Given the description of an element on the screen output the (x, y) to click on. 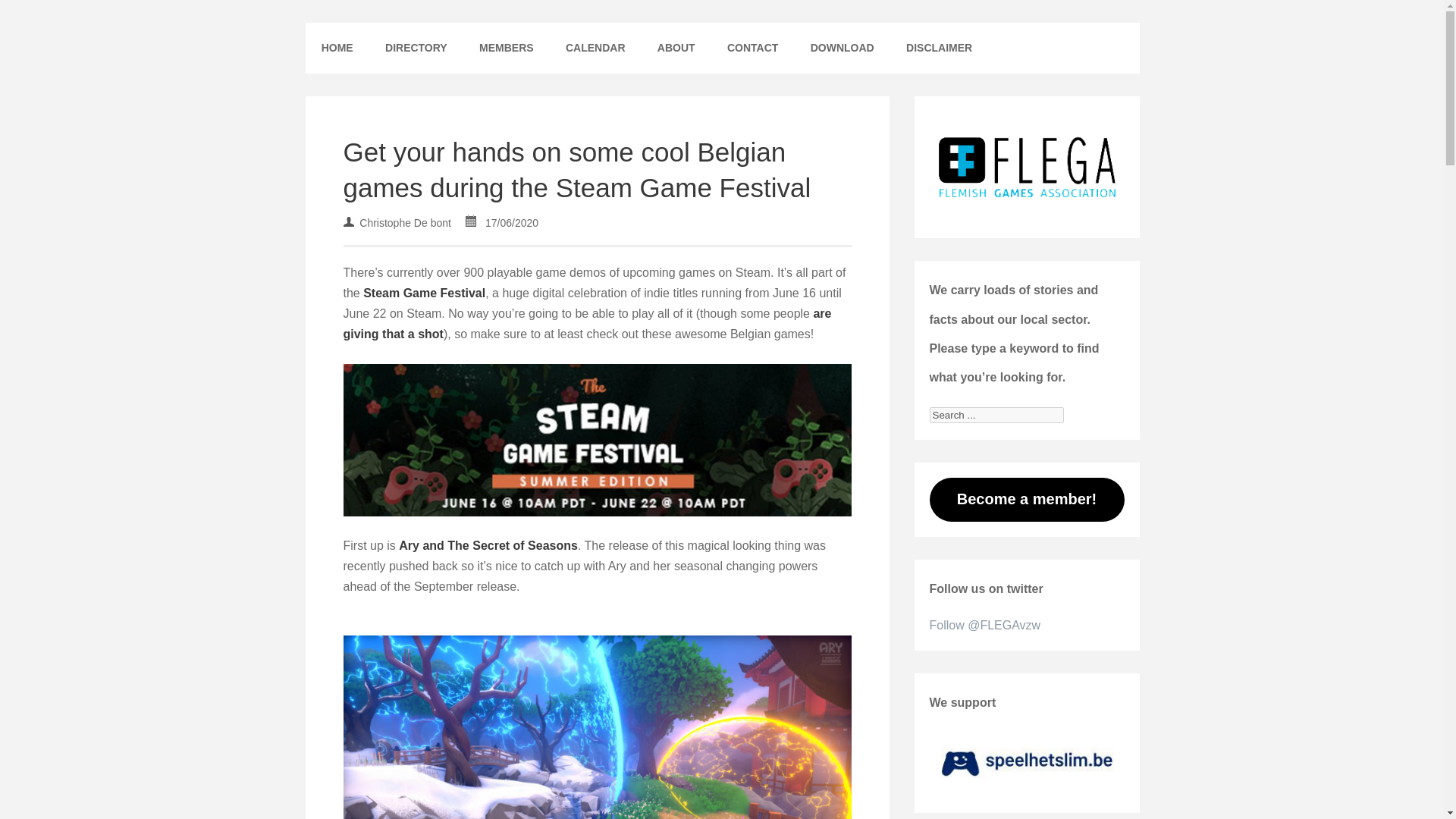
Search ... (997, 415)
are giving that a shot (586, 323)
DOWNLOAD (841, 47)
HOME (336, 47)
ABOUT (676, 47)
Steam Game Festival (423, 292)
DISCLAIMER (938, 47)
MEMBERS (506, 47)
Search ... (997, 415)
FLEGA (342, 33)
Ary and The Secret of Seasons (488, 545)
DIRECTORY (416, 47)
CONTACT (752, 47)
CALENDAR (596, 47)
